Given the description of an element on the screen output the (x, y) to click on. 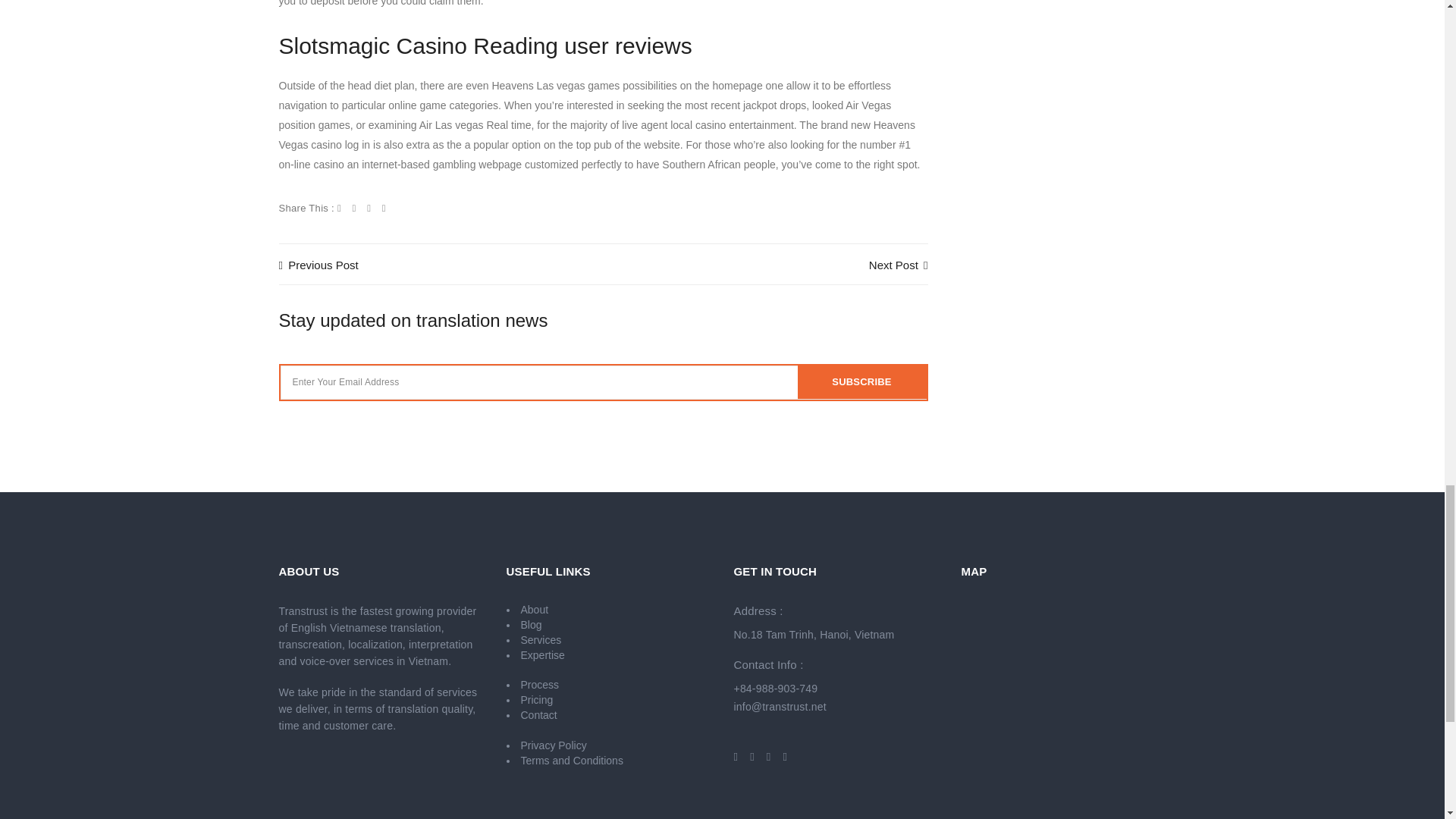
Previous Post (318, 264)
Next Post (898, 264)
Subscribe (861, 382)
Uitgelezene Datingsites Recensies 2023 Die Echt Werken (318, 264)
Subscribe (861, 382)
